Given the description of an element on the screen output the (x, y) to click on. 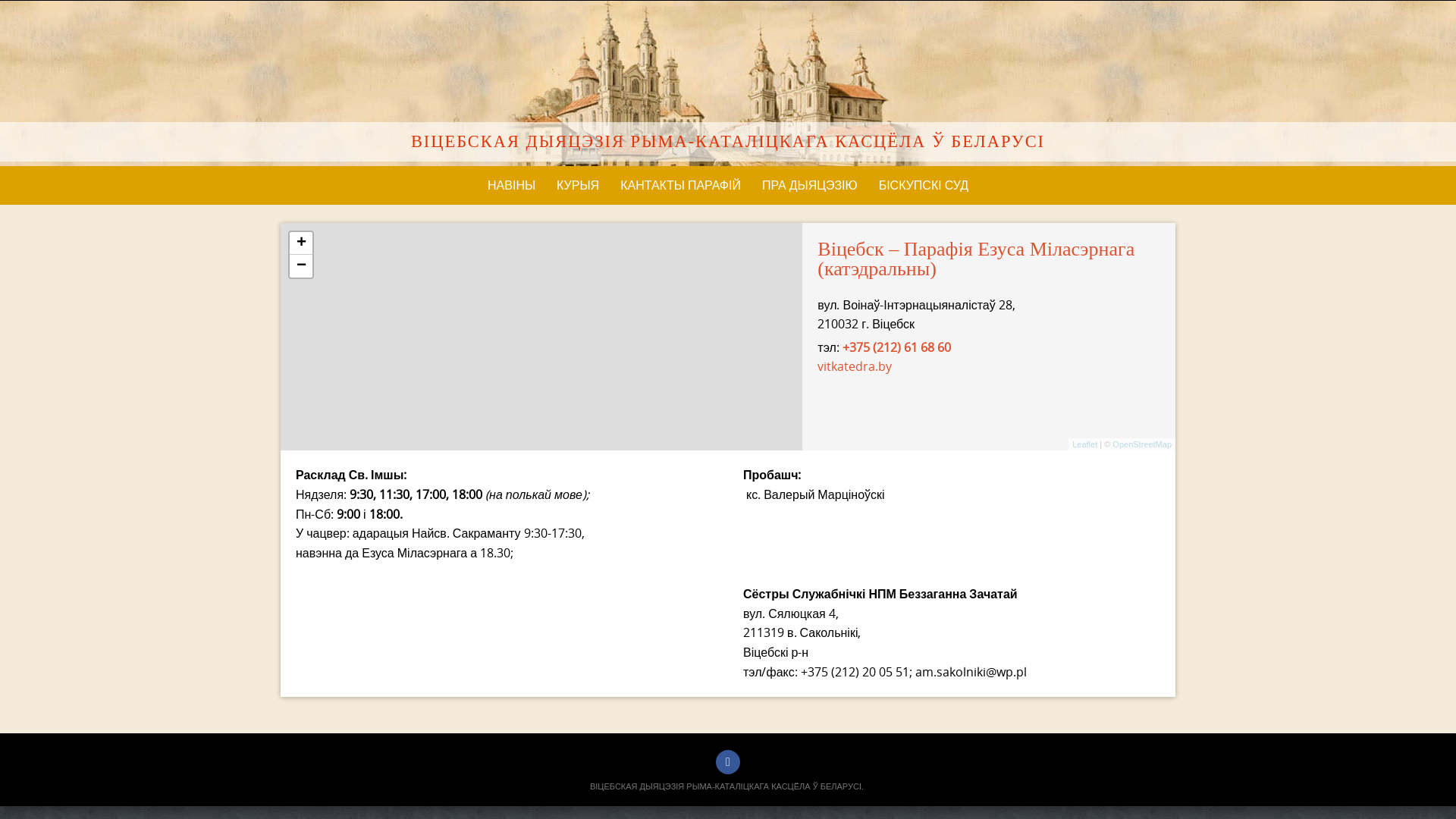
Facebook Element type: hover (727, 761)
Skip to content Element type: text (0, 0)
OpenStreetMap Element type: text (1141, 443)
Skip to content Element type: text (280, 166)
Leaflet Element type: text (1084, 443)
vitkatedra.by Element type: text (854, 365)
+ Element type: text (300, 243)
